Given the description of an element on the screen output the (x, y) to click on. 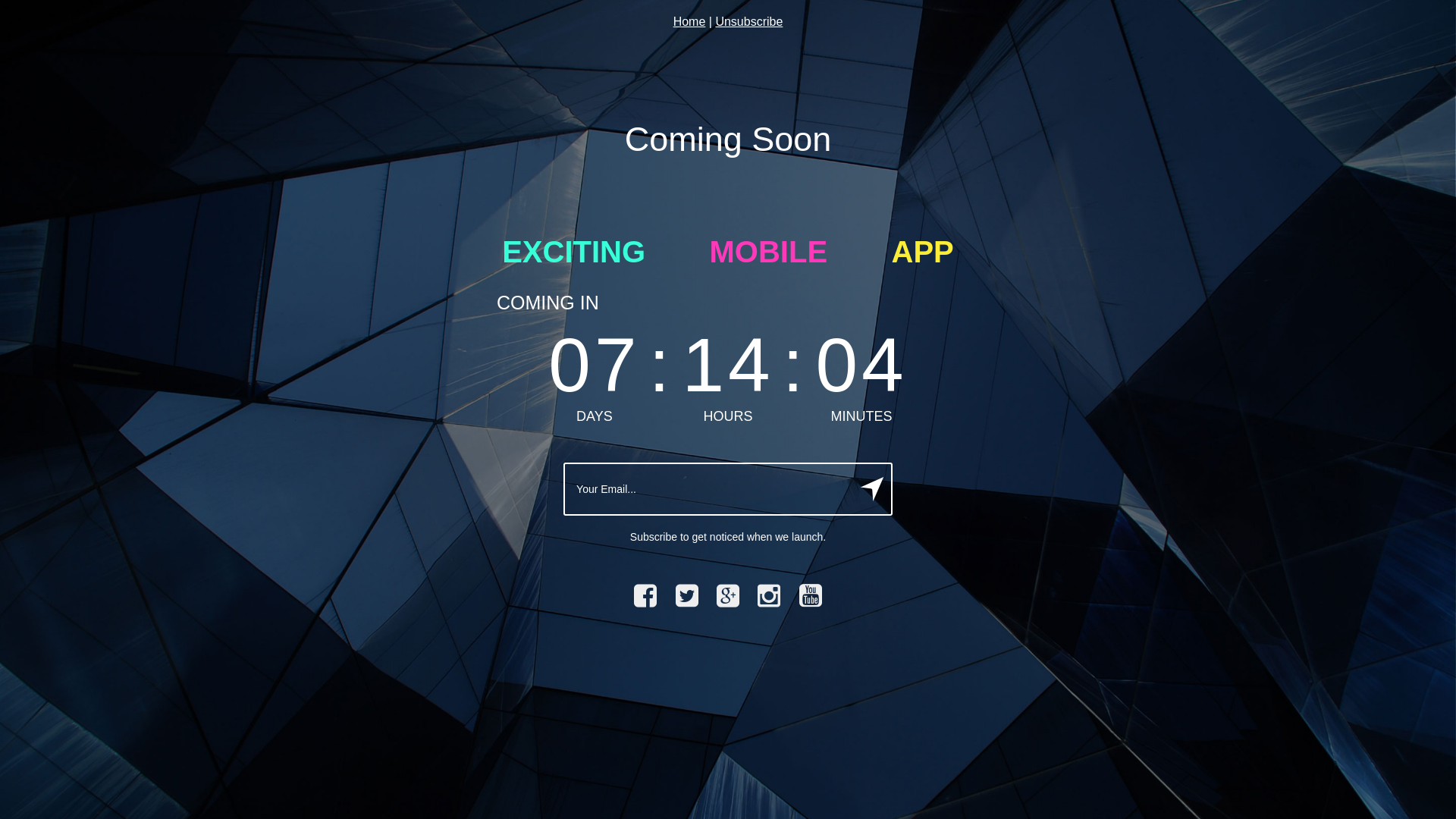
Go to Our Instagram Account Element type: hover (768, 595)
Go to Our Google Plus Account Element type: hover (727, 595)
Unsubscribe Element type: text (748, 21)
Home Element type: text (689, 21)
Go to Our Youtube Channel Element type: hover (810, 595)
Go to Our Twitter Account Element type: hover (686, 595)
Go to Our Facebook Page Element type: hover (644, 595)
